Given the description of an element on the screen output the (x, y) to click on. 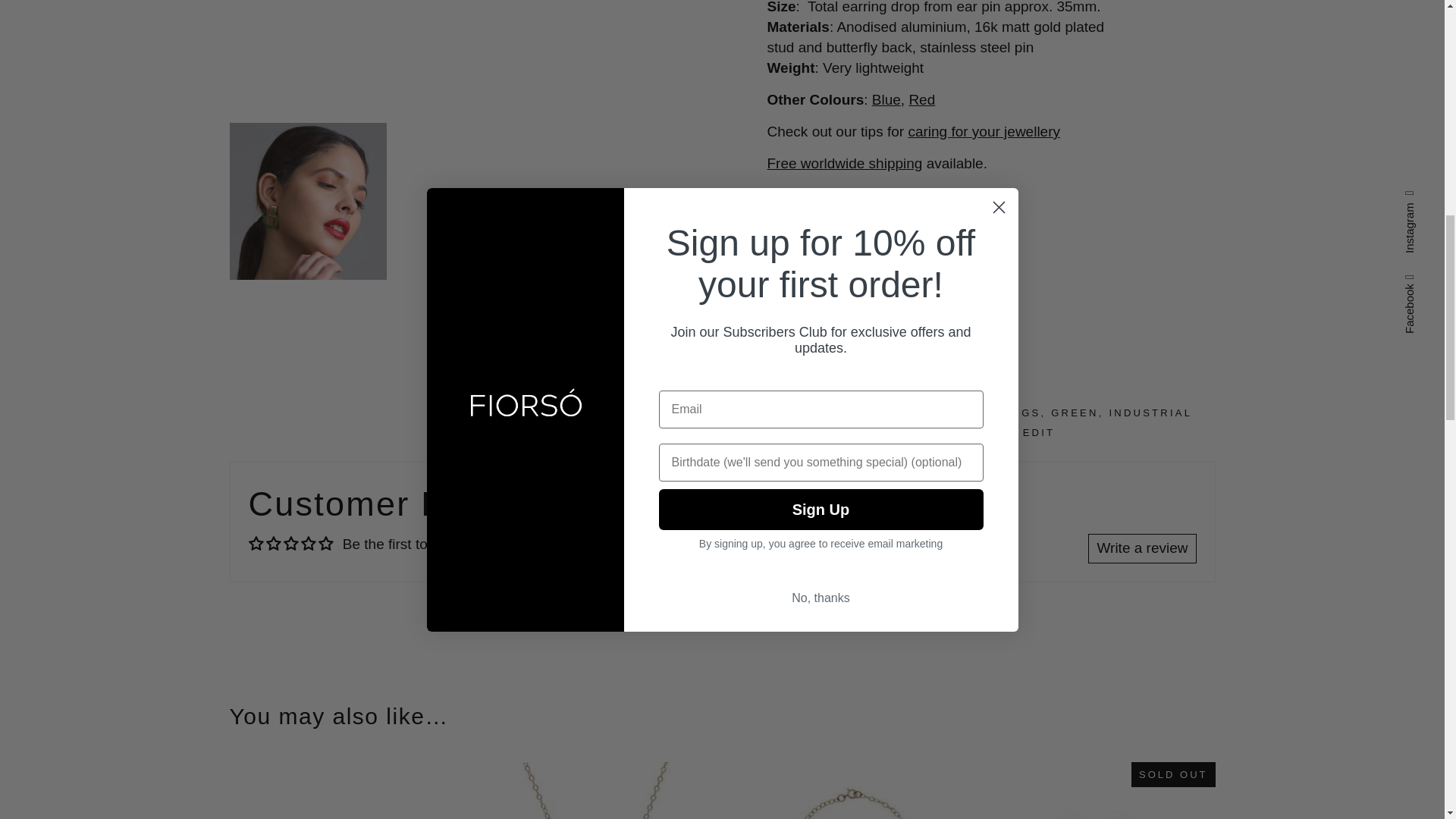
30 (306, 201)
1 (786, 225)
Qty (786, 225)
PayPal (991, 276)
29 (476, 55)
